Given the description of an element on the screen output the (x, y) to click on. 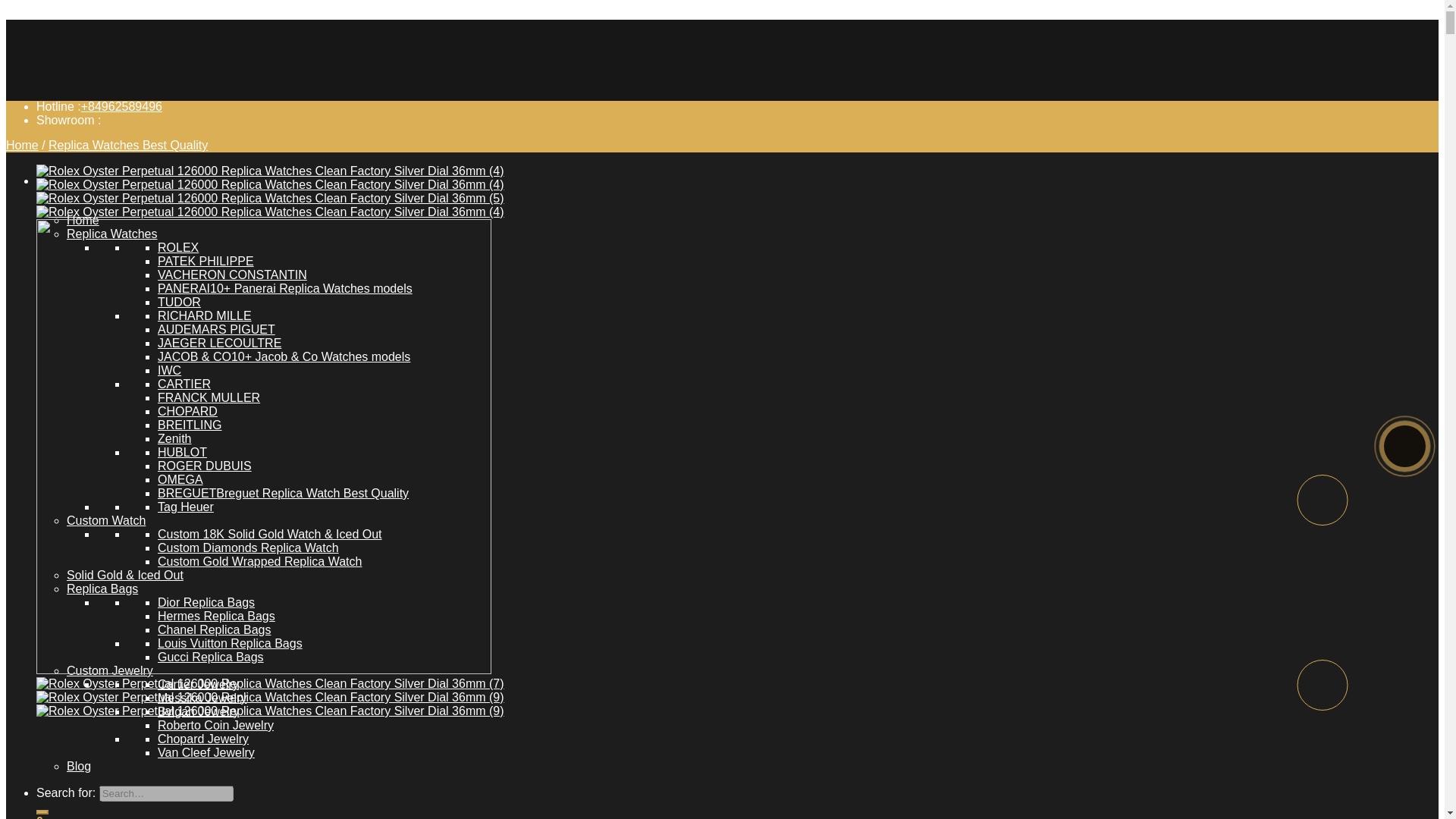
Tag Heuer (185, 506)
ROGER DUBUIS (204, 465)
PATEK PHILIPPE (205, 260)
Custom Watch (105, 520)
ROLEX (177, 246)
CHOPARD (186, 410)
Replica Bags (102, 588)
Messika Jewelry (201, 697)
Replica Watches (111, 233)
